Given the description of an element on the screen output the (x, y) to click on. 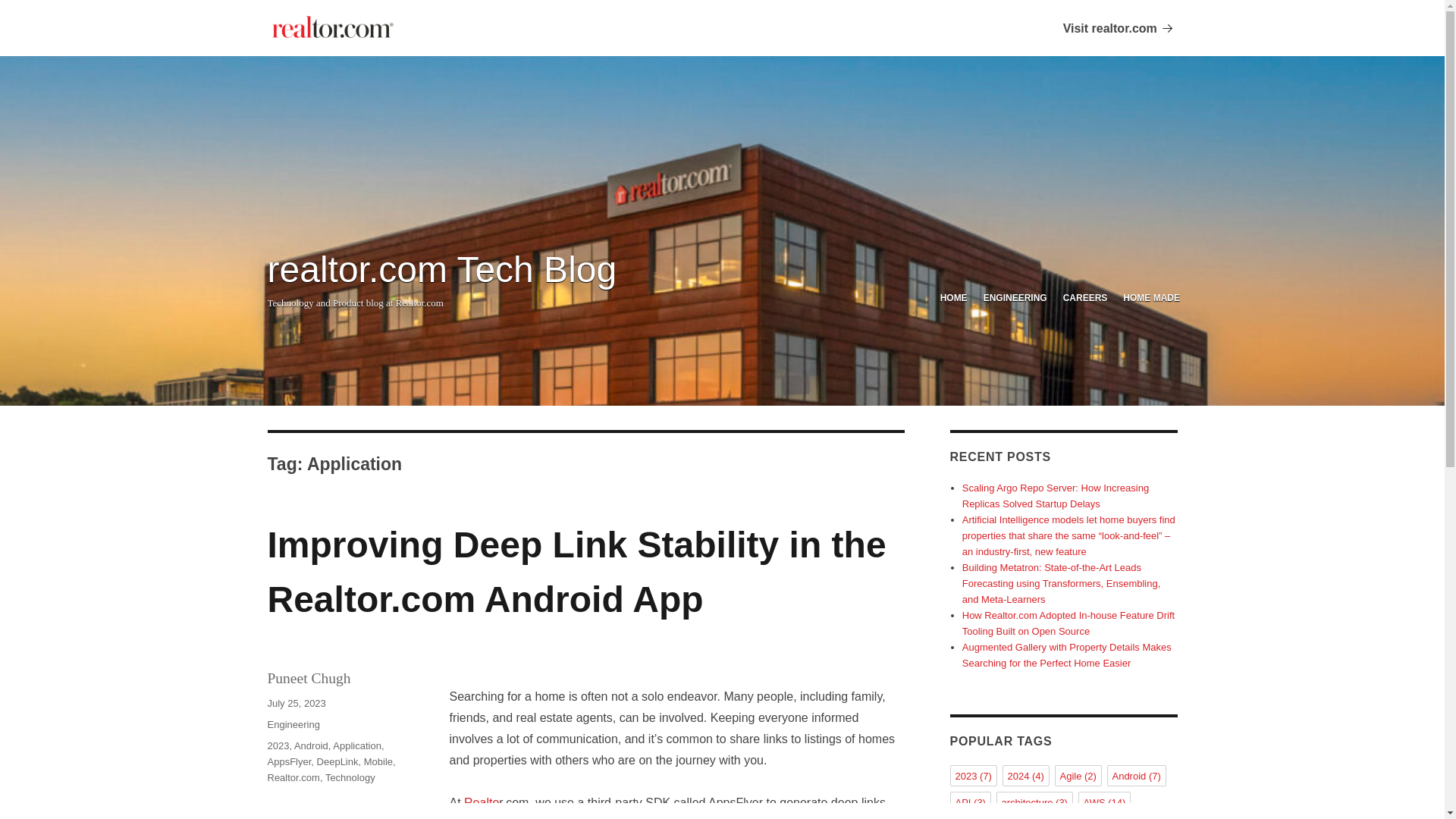
HOME (953, 299)
Realto (481, 802)
Mobile (378, 761)
July 25, 2023 (295, 703)
DeepLink (337, 761)
Android (311, 745)
Improving Deep Link Stability in the Realtor.com Android App (575, 571)
Realtor.com (292, 777)
